Given the description of an element on the screen output the (x, y) to click on. 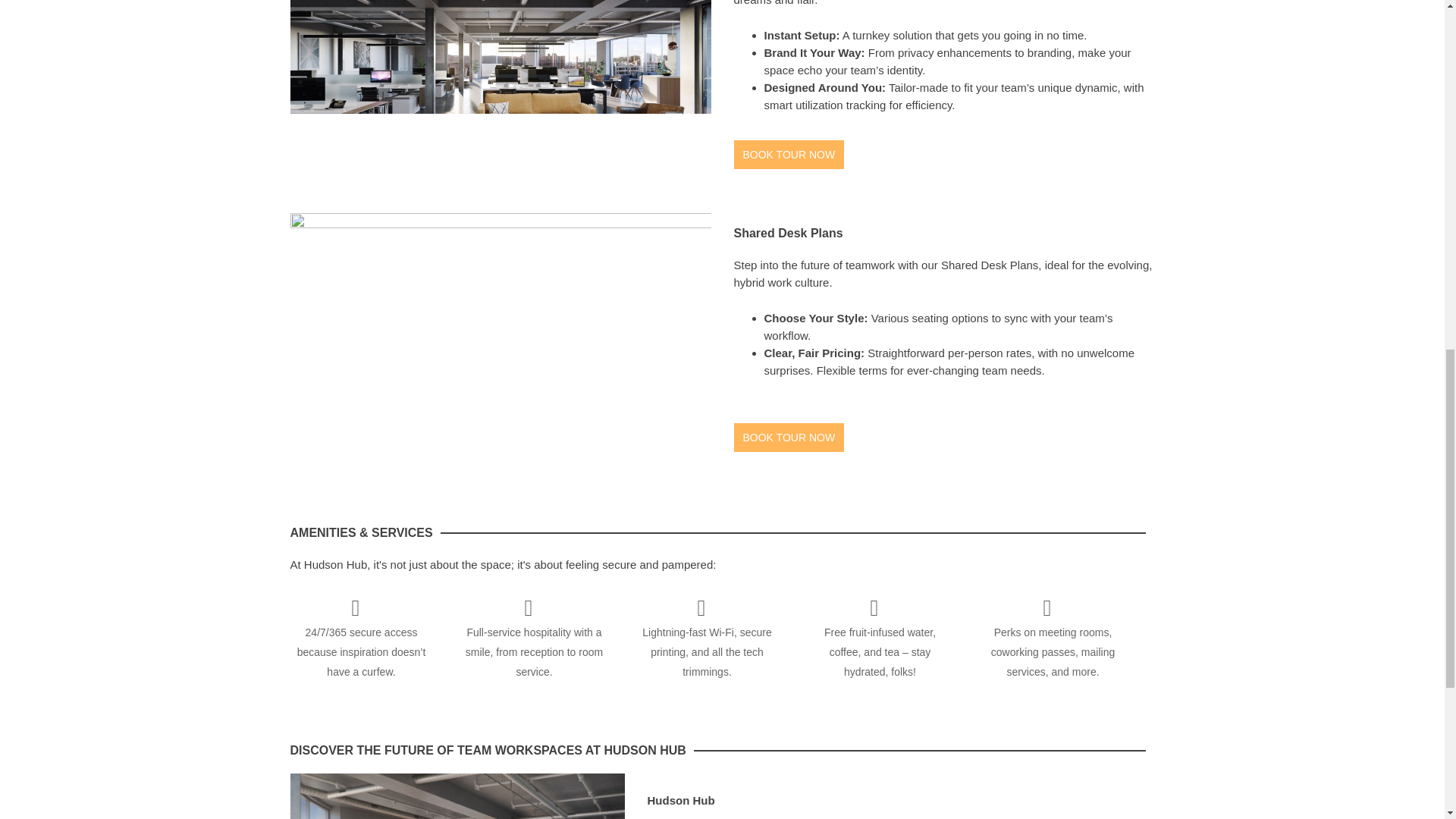
BOOK TOUR NOW (788, 154)
BOOK TOUR NOW (788, 437)
